Given the description of an element on the screen output the (x, y) to click on. 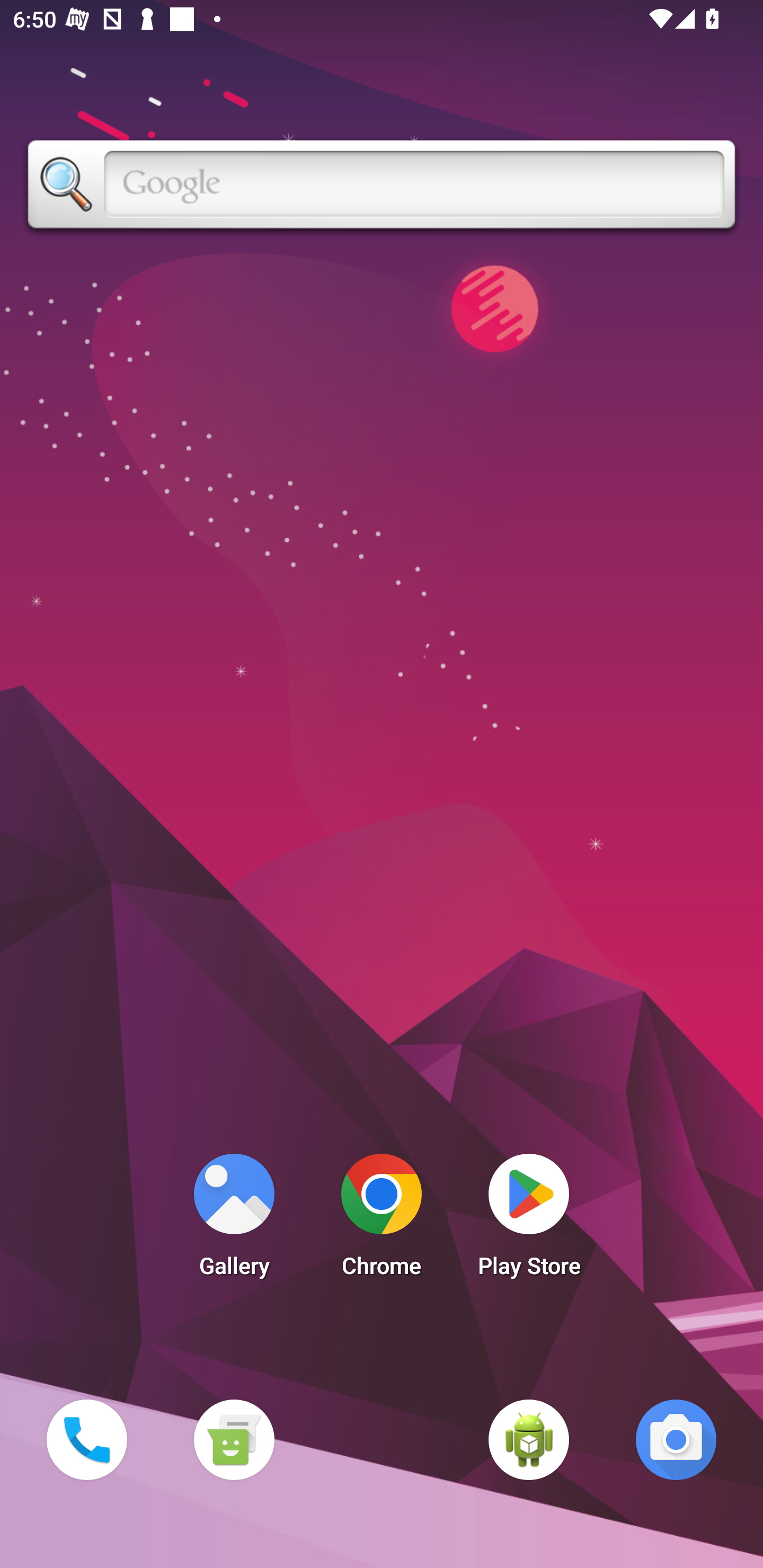
Gallery (233, 1220)
Chrome (381, 1220)
Play Store (528, 1220)
Phone (86, 1439)
Messaging (233, 1439)
WebView Browser Tester (528, 1439)
Camera (676, 1439)
